Given the description of an element on the screen output the (x, y) to click on. 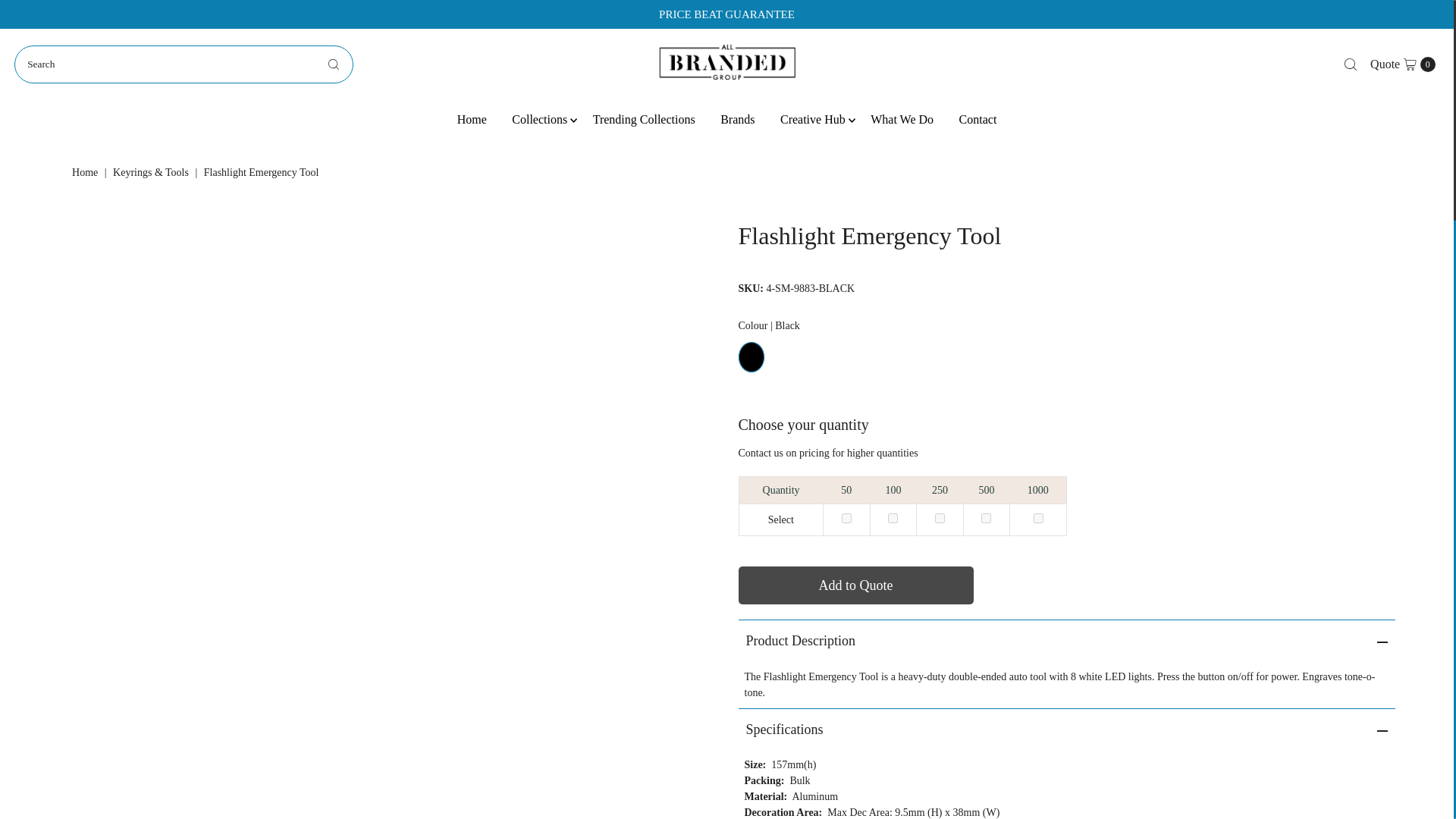
500 (986, 518)
50 (846, 518)
Home (471, 119)
250 (939, 518)
Trending Collections (1403, 64)
Add to Quote (643, 119)
1000 (856, 585)
Collections (1038, 518)
100 (539, 119)
